Given the description of an element on the screen output the (x, y) to click on. 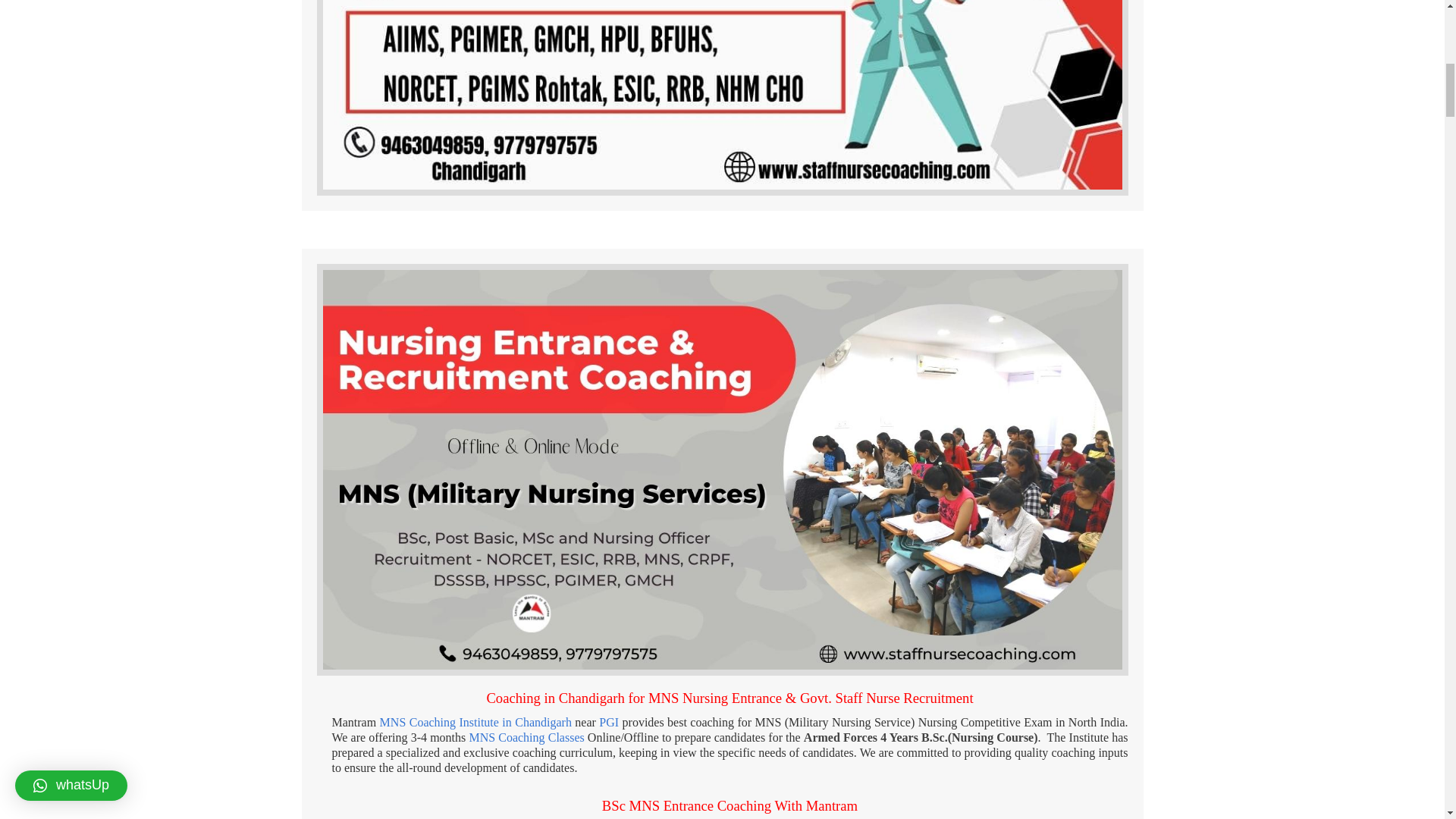
MNS Coaching Institute in Chandigarh (476, 721)
MNS Coaching Classes (525, 737)
PGI (608, 721)
